Given the description of an element on the screen output the (x, y) to click on. 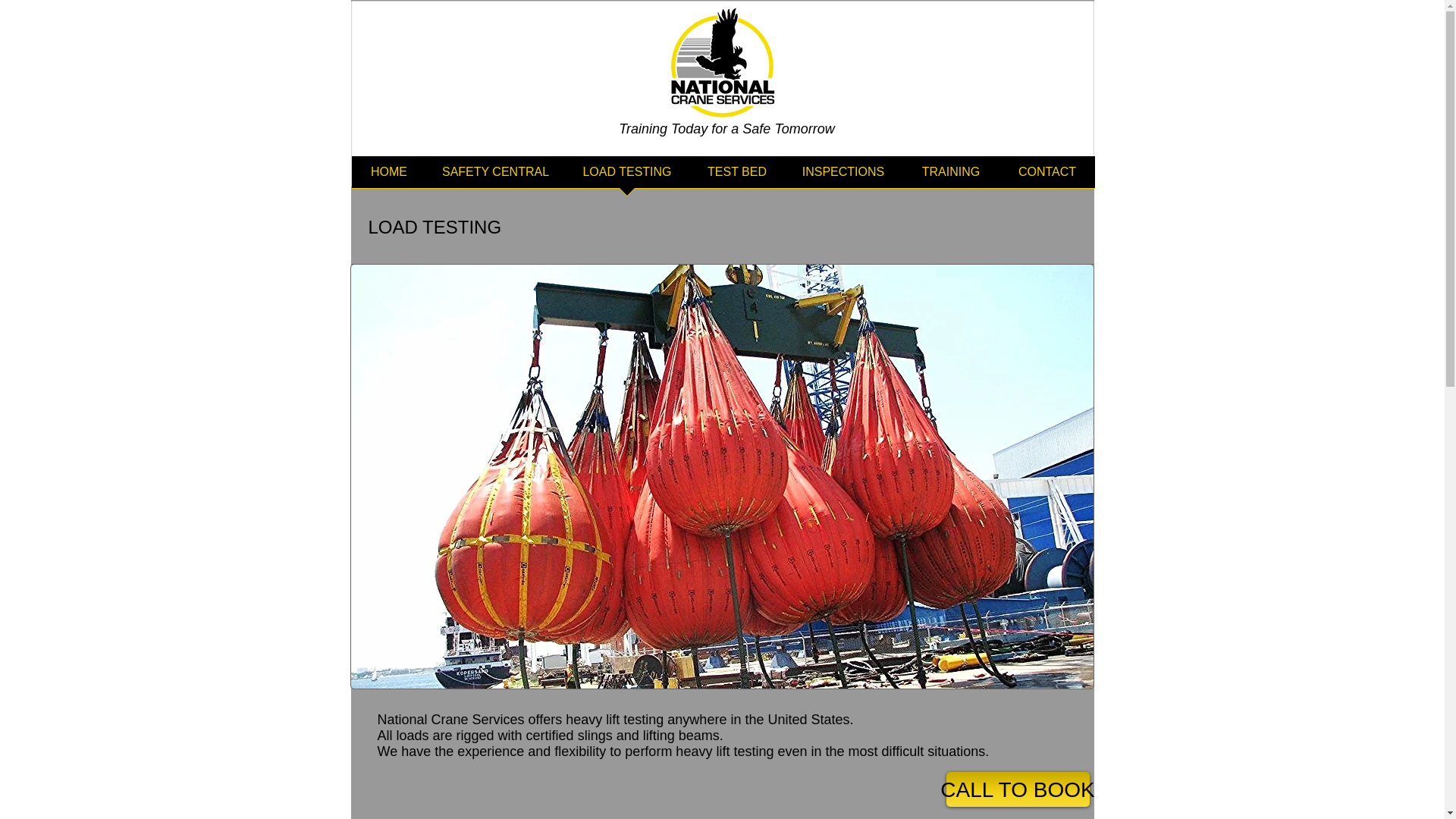
SAFETY CENTRAL (495, 177)
HOME (389, 177)
TRAINING (951, 177)
LOAD TESTING (626, 177)
CALL TO BOOK (1017, 789)
INSPECTIONS (842, 177)
CONTACT (1046, 177)
TEST BED (737, 177)
